Given the description of an element on the screen output the (x, y) to click on. 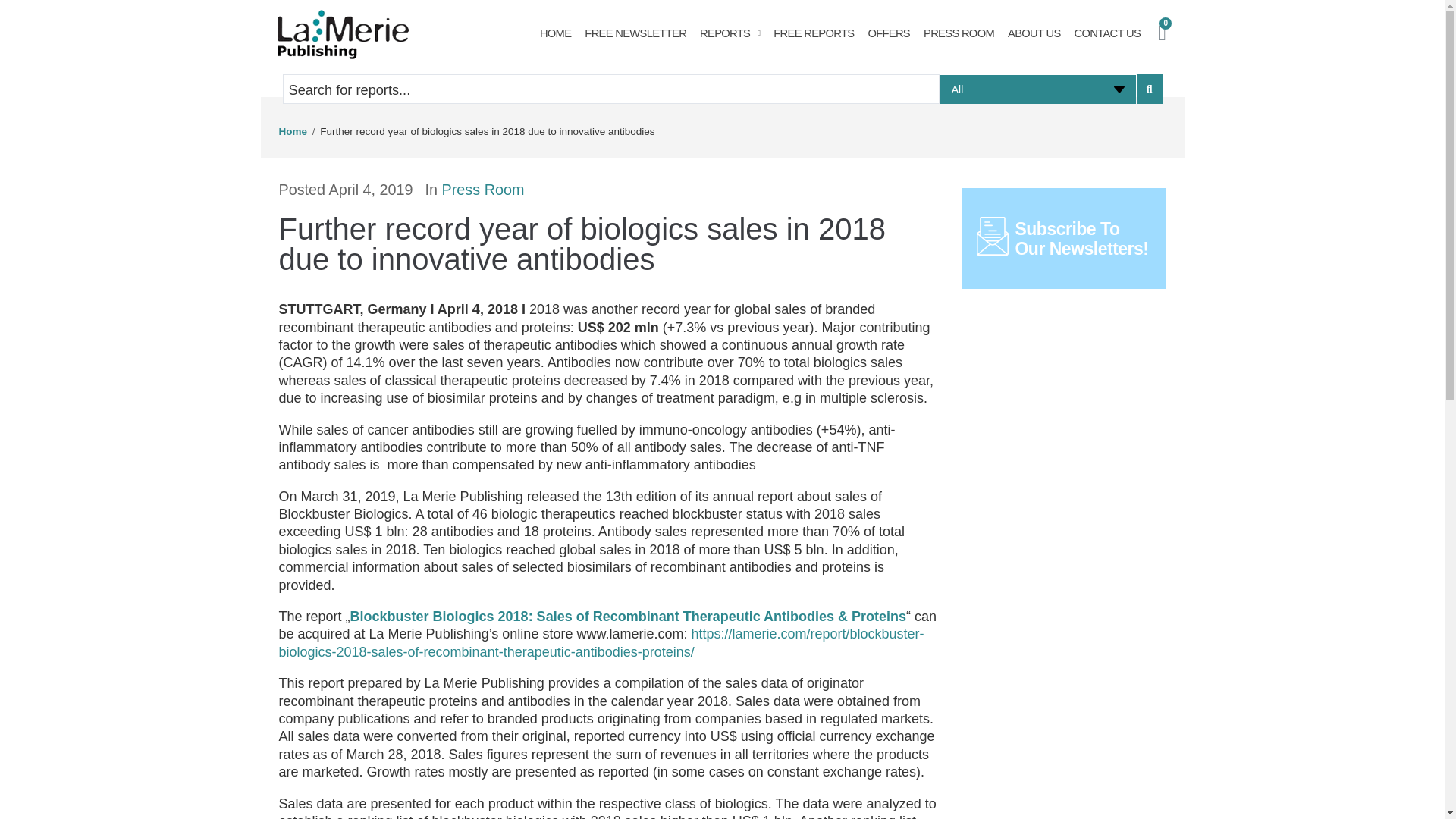
OFFERS (888, 32)
FREE REPORTS (813, 32)
FREE NEWSLETTER (635, 32)
ABOUT US (1034, 32)
REPORTS (730, 32)
HOME (555, 32)
Home (293, 131)
PRESS ROOM (958, 32)
CONTACT US (1107, 32)
